Given the description of an element on the screen output the (x, y) to click on. 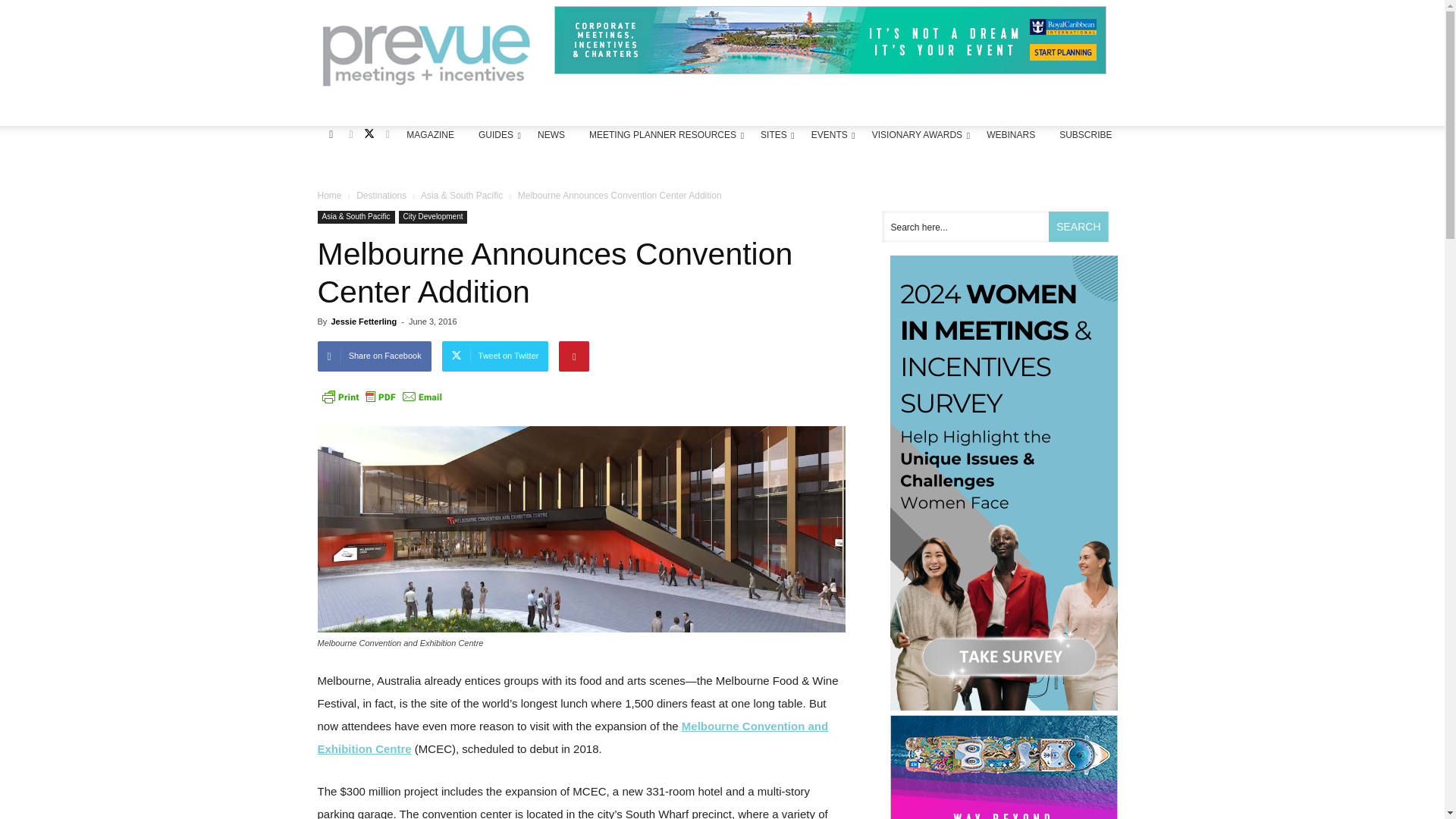
View all posts in Destinations (381, 195)
